Given the description of an element on the screen output the (x, y) to click on. 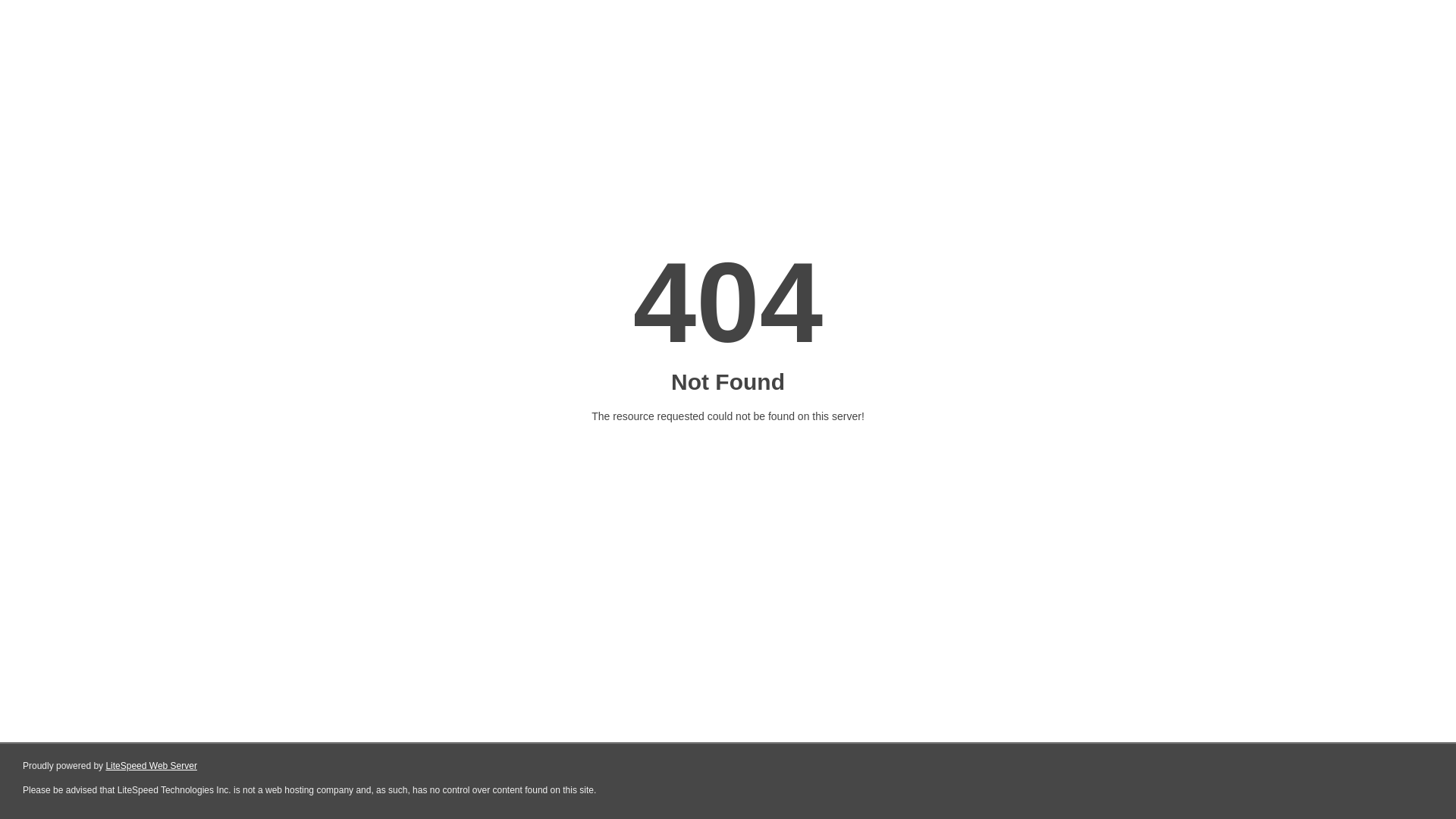
LiteSpeed Web Server Element type: text (151, 765)
